Given the description of an element on the screen output the (x, y) to click on. 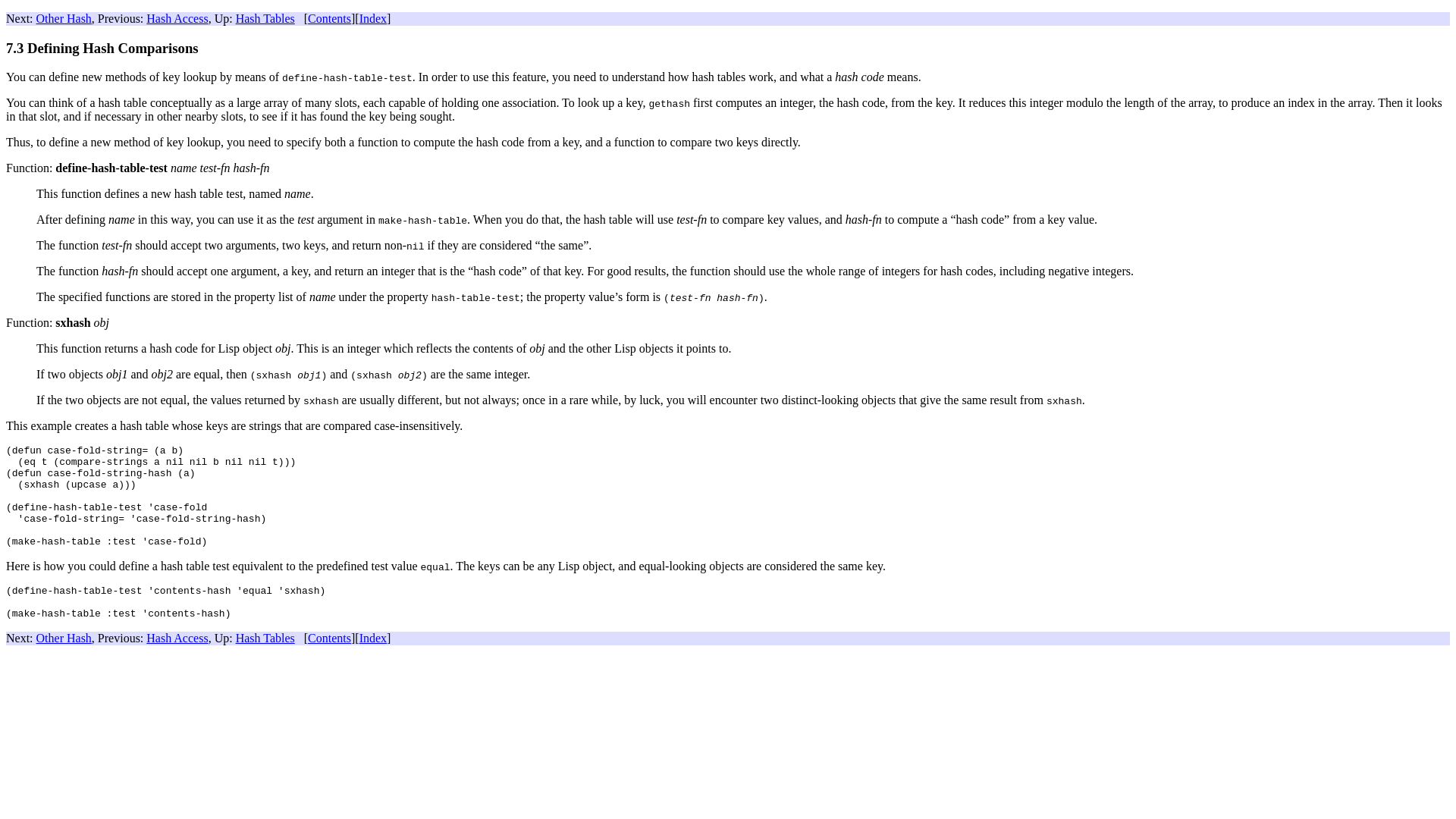
Hash Access (177, 18)
Other Hash (63, 18)
Index (373, 18)
Contents (328, 18)
Index (373, 18)
Table of contents (328, 18)
Hash Tables (265, 18)
